Given the description of an element on the screen output the (x, y) to click on. 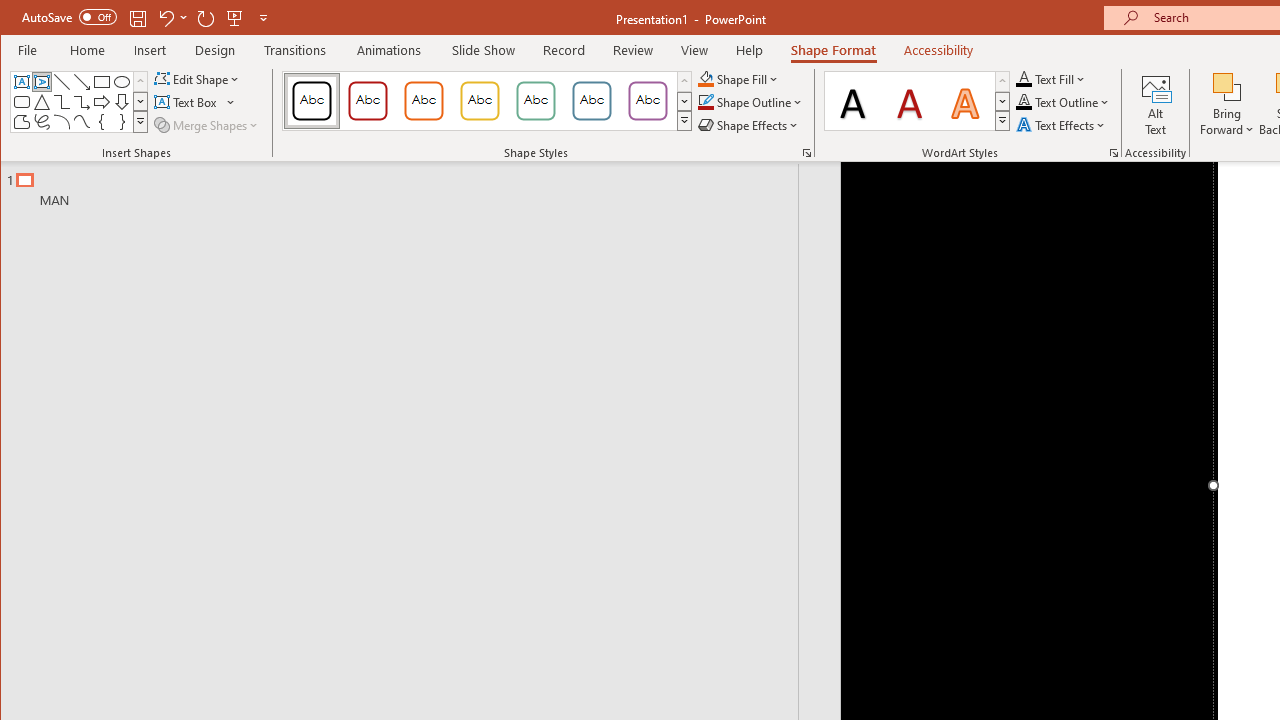
Bring Forward (1227, 104)
Colored Outline - Purple, Accent 6 (647, 100)
Shape Outline (750, 101)
Shape Fill Orange, Accent 2 (705, 78)
